Given the description of an element on the screen output the (x, y) to click on. 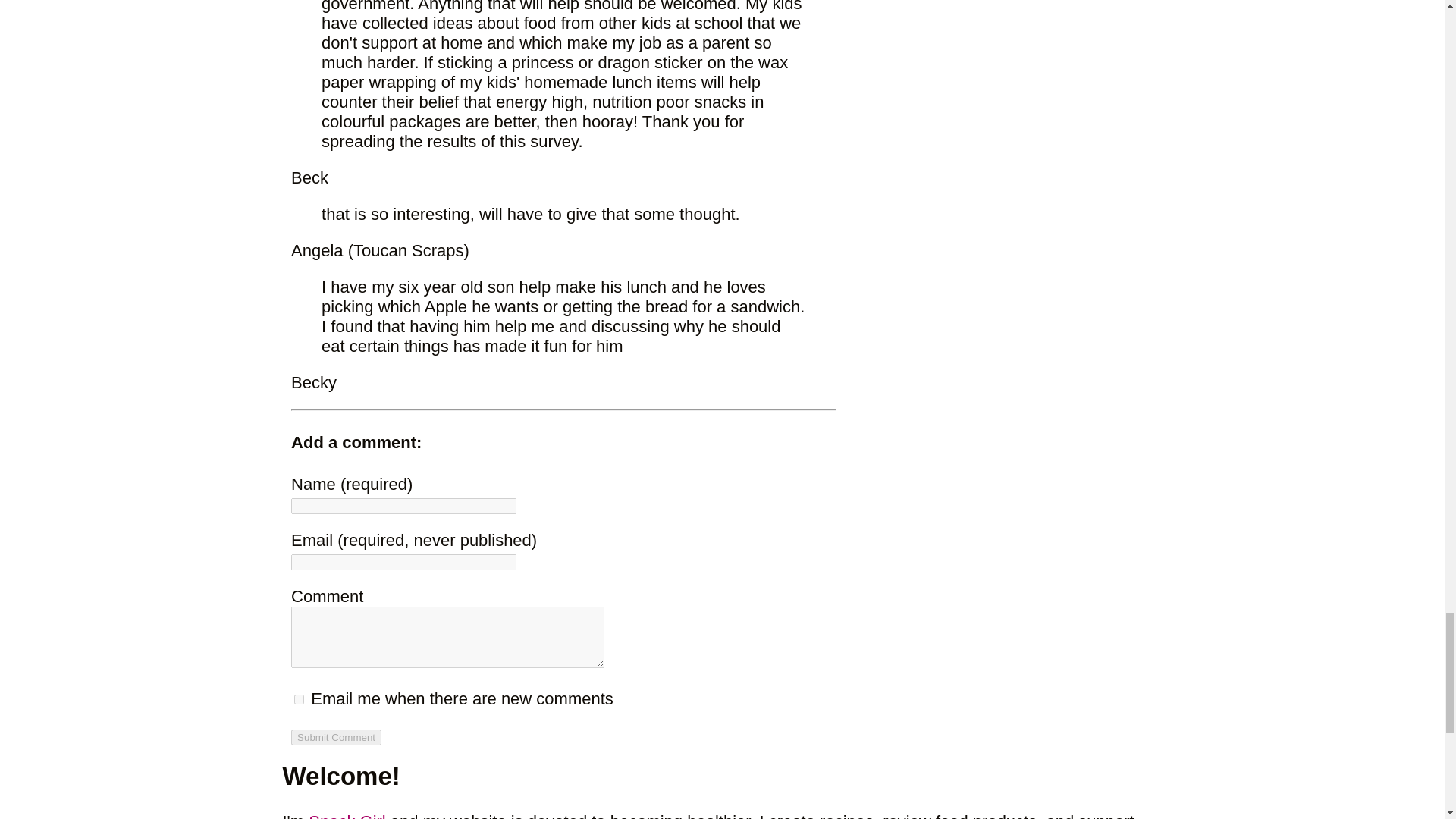
Submit Comment (336, 737)
on (299, 699)
Snack Girl (346, 815)
Submit Comment (336, 737)
